Given the description of an element on the screen output the (x, y) to click on. 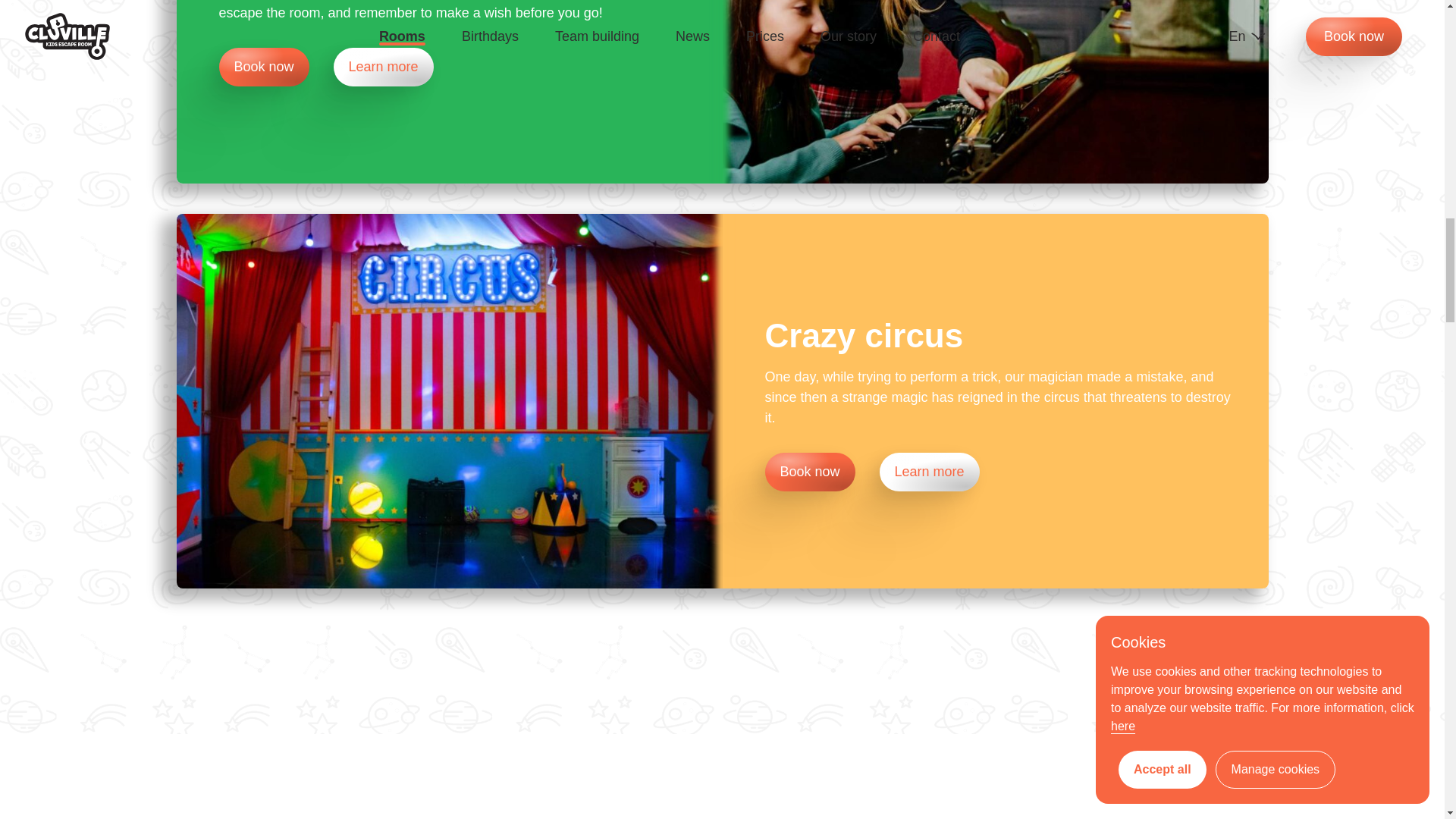
Book now (821, 471)
Book now (263, 66)
Learn more (383, 66)
Learn more (929, 471)
Book now (275, 66)
Book now (809, 471)
